Given the description of an element on the screen output the (x, y) to click on. 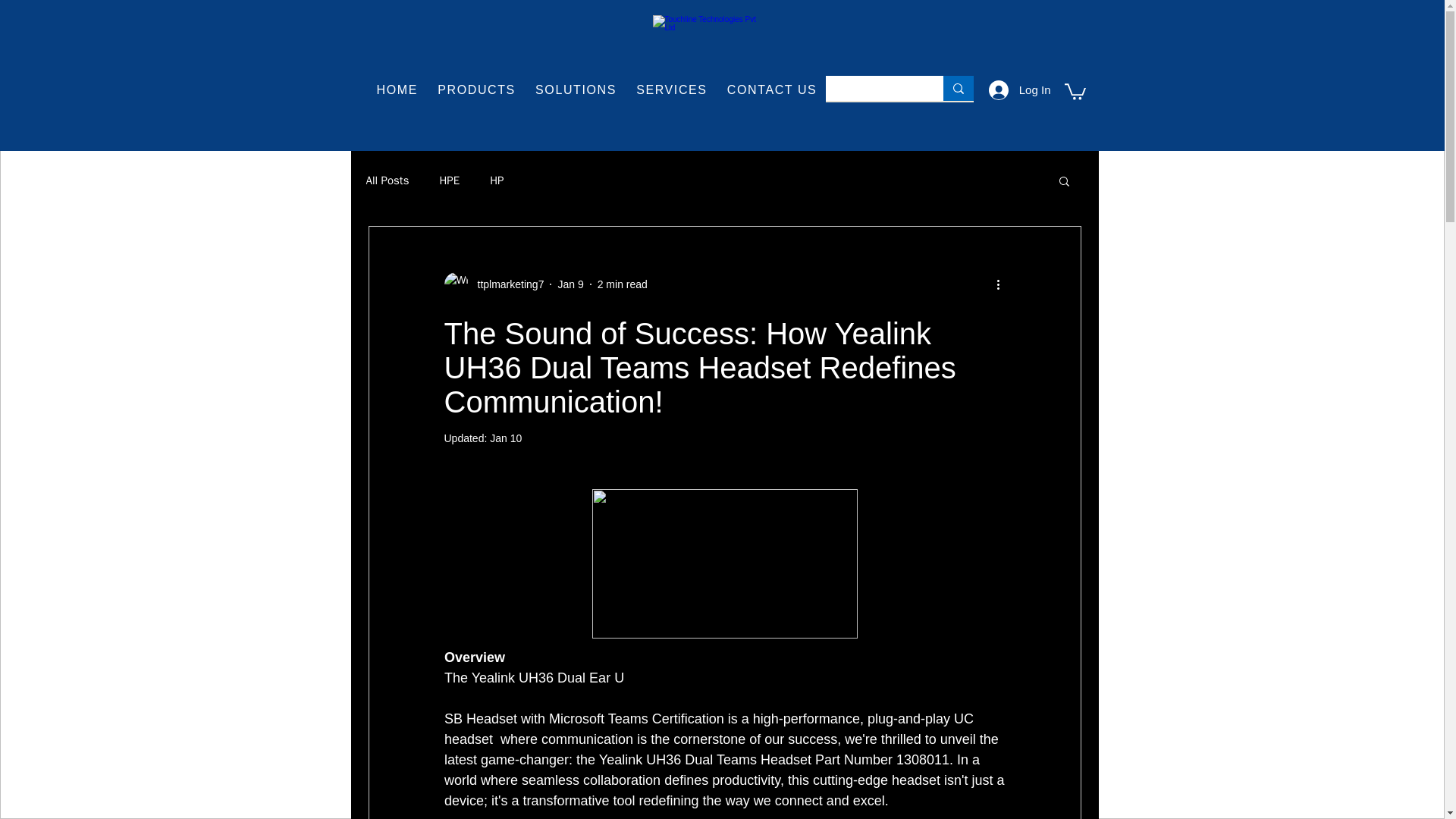
ttplmarketing7 (494, 283)
All Posts (387, 179)
Log In (1019, 90)
Jan 9 (570, 283)
CONTACT US (772, 90)
Jan 10 (505, 438)
SERVICES (671, 90)
ttplmarketing7 (595, 90)
HPE (506, 283)
